Given the description of an element on the screen output the (x, y) to click on. 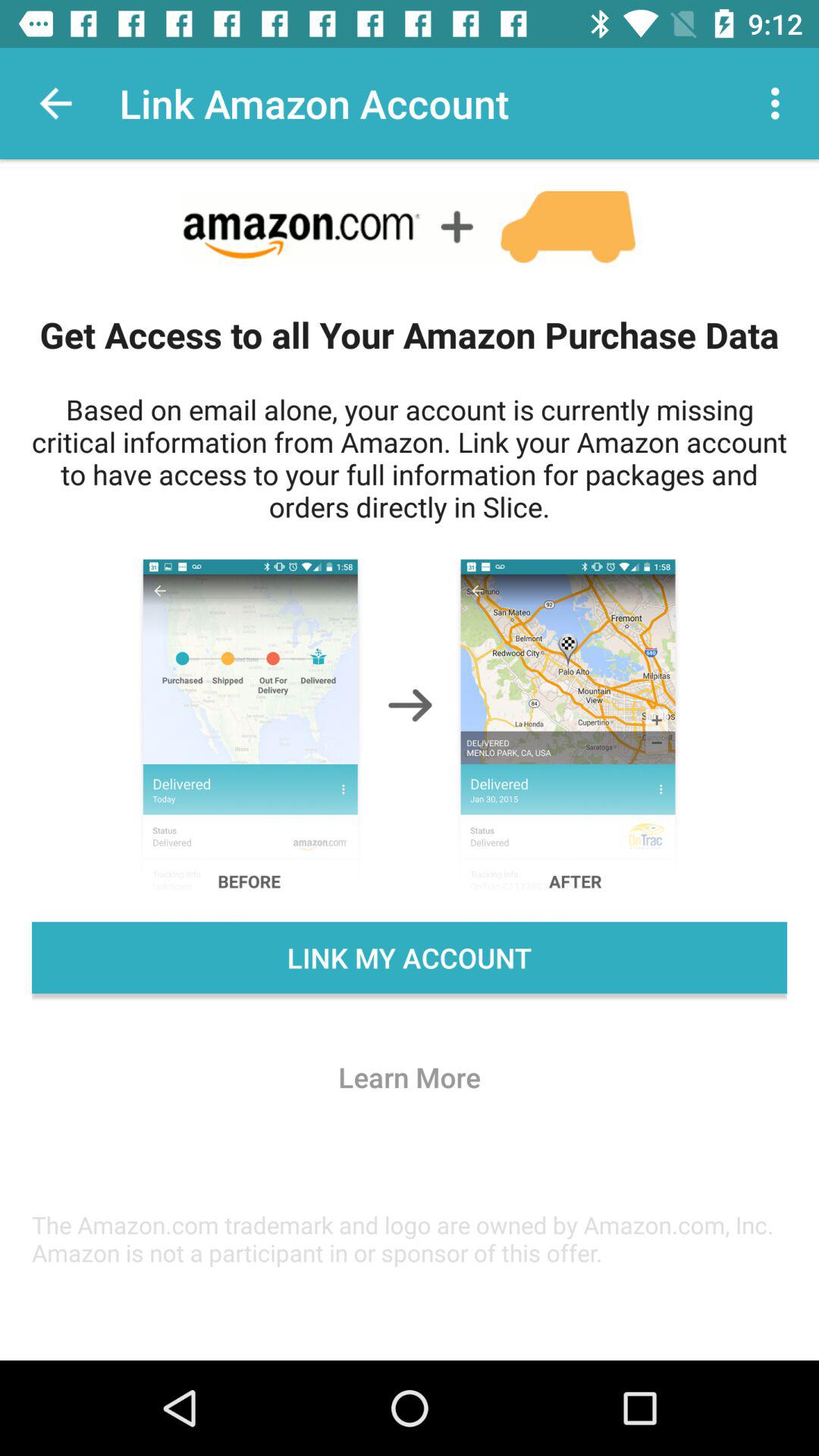
turn off the item below link my account icon (409, 1077)
